Given the description of an element on the screen output the (x, y) to click on. 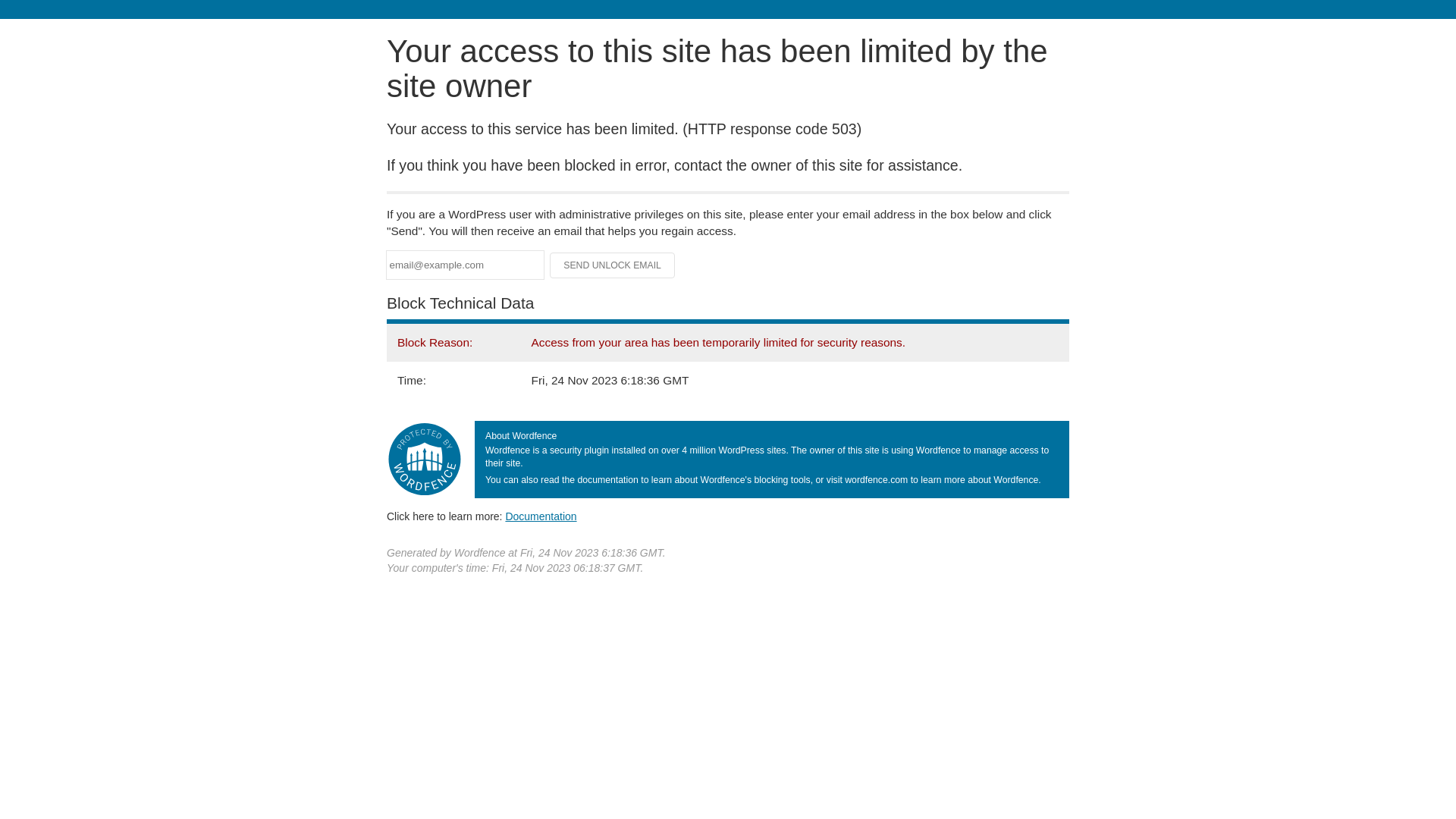
Send Unlock Email Element type: text (612, 265)
Documentation Element type: text (540, 516)
